Given the description of an element on the screen output the (x, y) to click on. 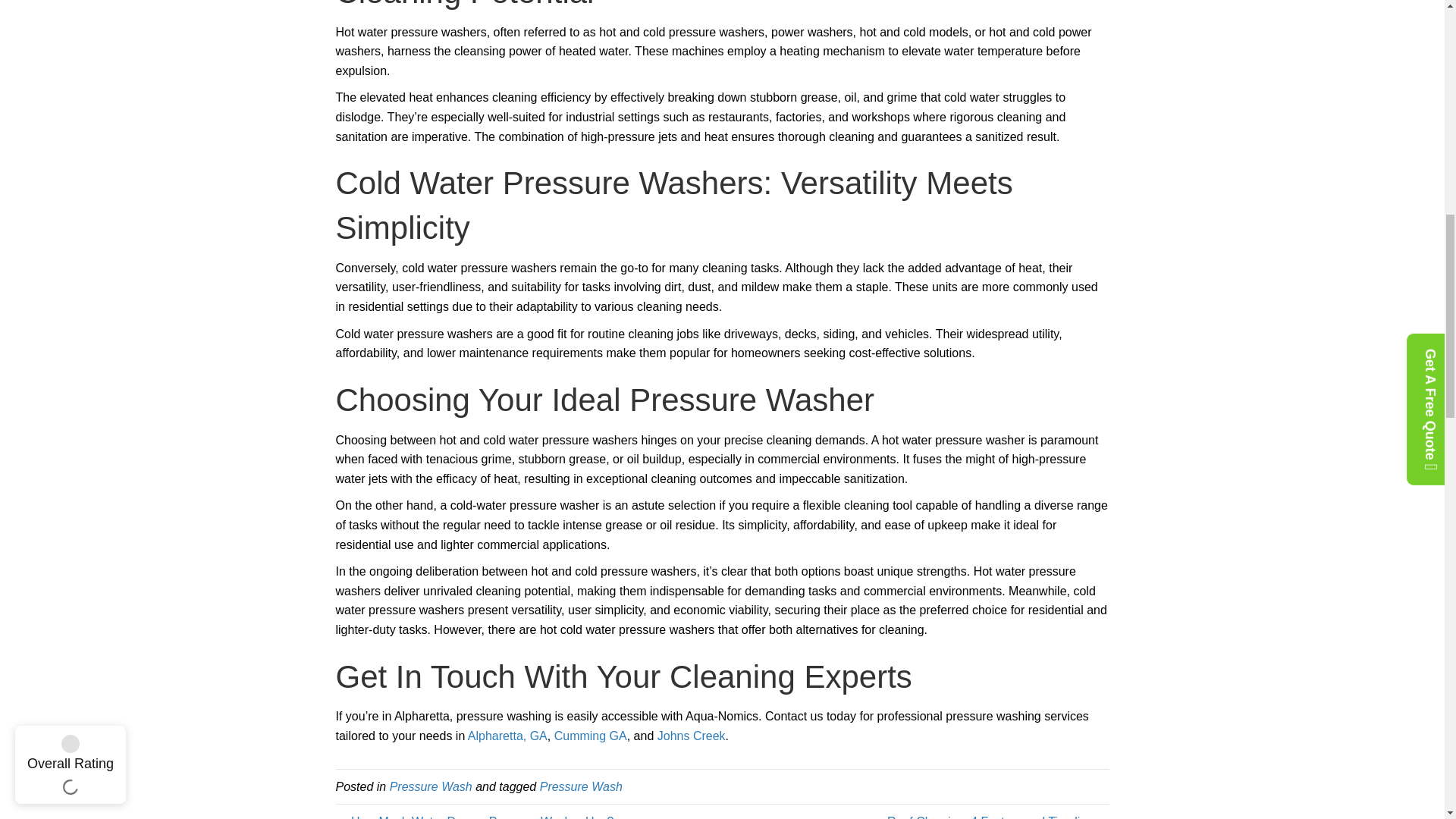
Pressure Washing Alpharetta GA (507, 735)
Pressure Washing Cumming GA (590, 735)
Pressure Washing Johns Creek (691, 735)
